Given the description of an element on the screen output the (x, y) to click on. 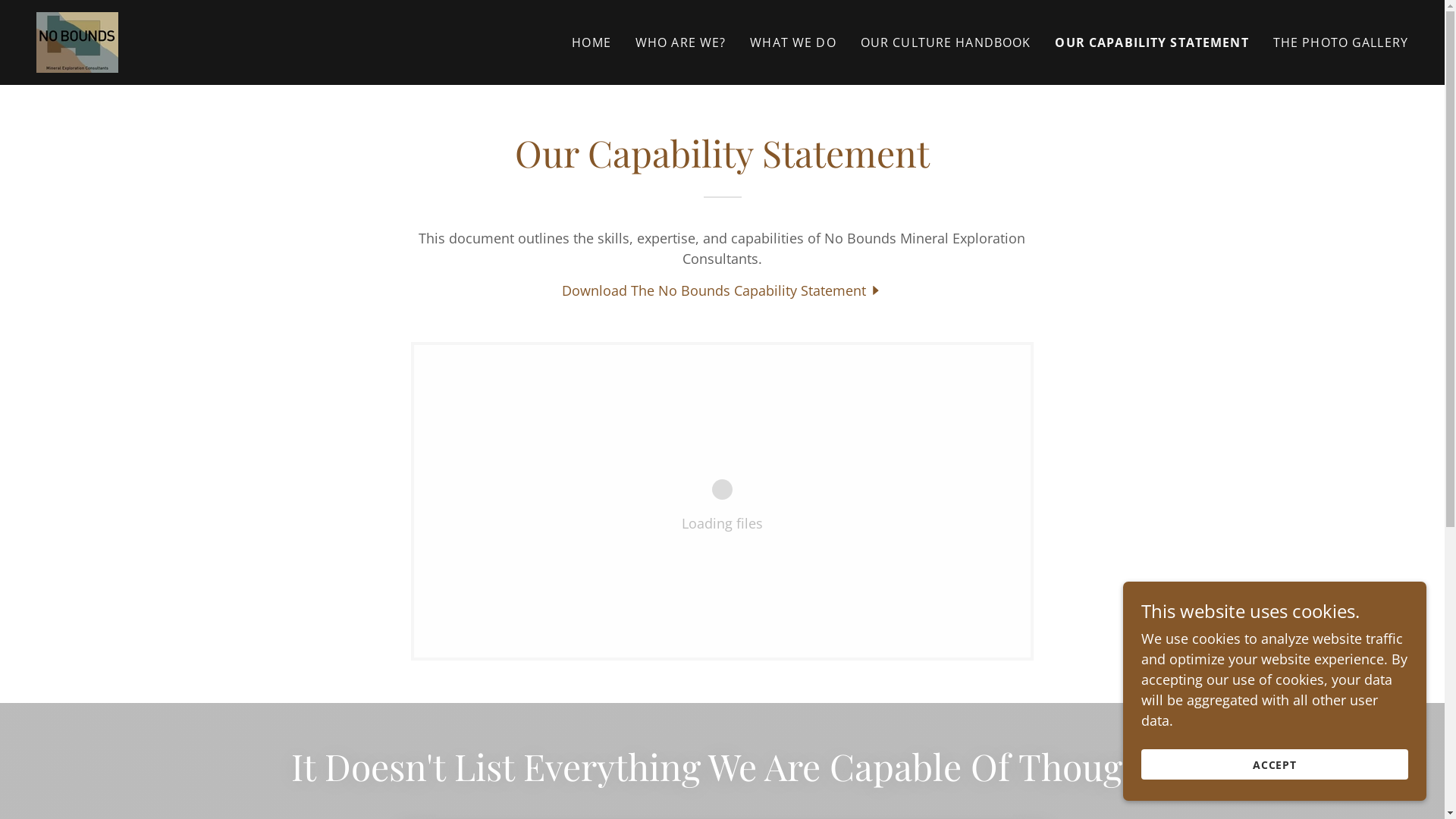
THE PHOTO GALLERY Element type: text (1340, 42)
Download The No Bounds Capability Statement Element type: text (722, 290)
HOME Element type: text (591, 42)
ACCEPT Element type: text (1274, 764)
WHO ARE WE? Element type: text (680, 42)
OUR CULTURE HANDBOOK Element type: text (945, 42)
WHAT WE DO Element type: text (792, 42)
No Bounds - Exploration and Geological Consultants Element type: hover (77, 40)
OUR CAPABILITY STATEMENT Element type: text (1151, 42)
